Given the description of an element on the screen output the (x, y) to click on. 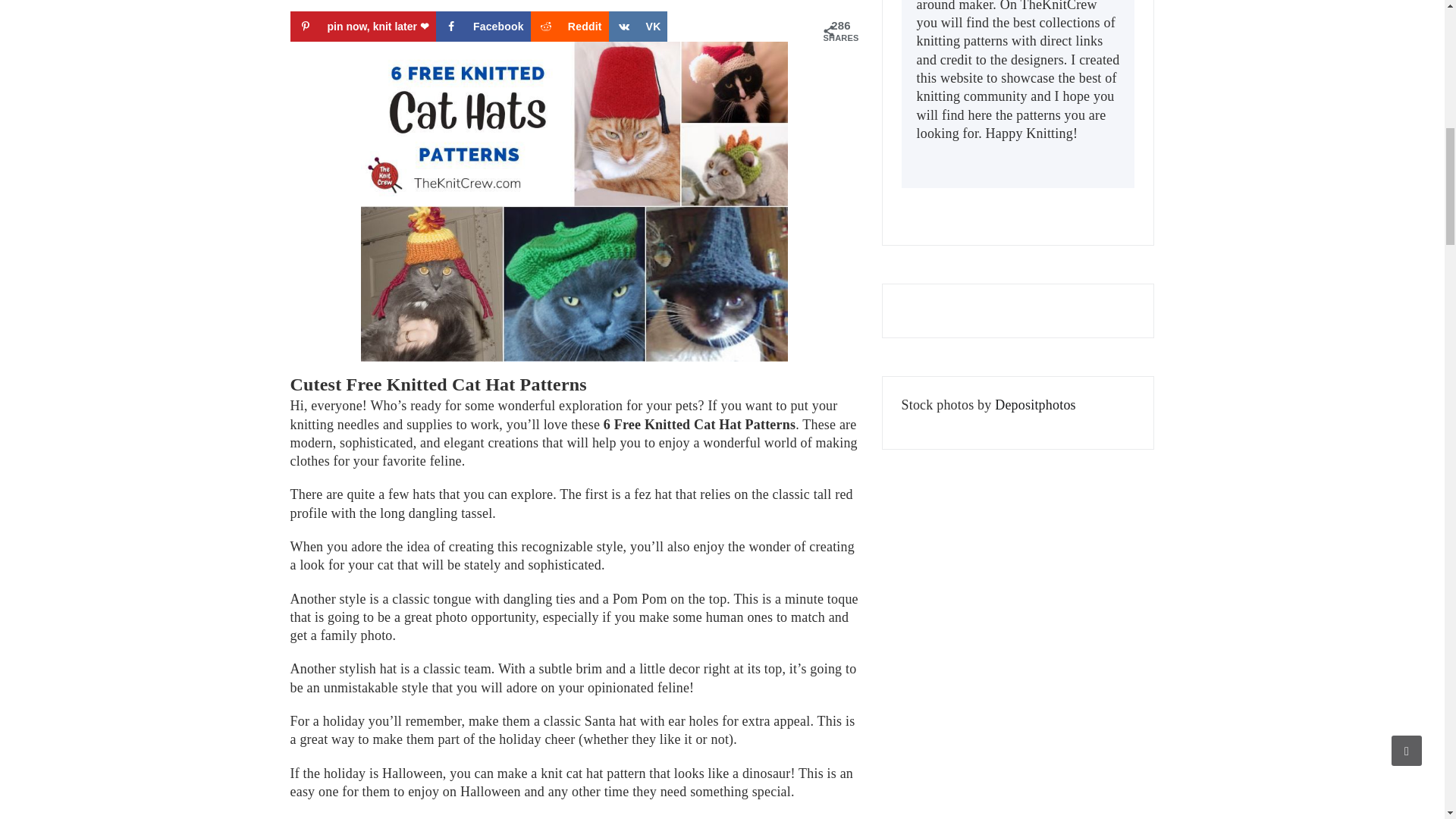
Share on VK (638, 26)
Save to Pinterest (362, 26)
Facebook (483, 26)
Reddit (569, 26)
VK (638, 26)
Share on Reddit (569, 26)
Share on Facebook (483, 26)
